Given the description of an element on the screen output the (x, y) to click on. 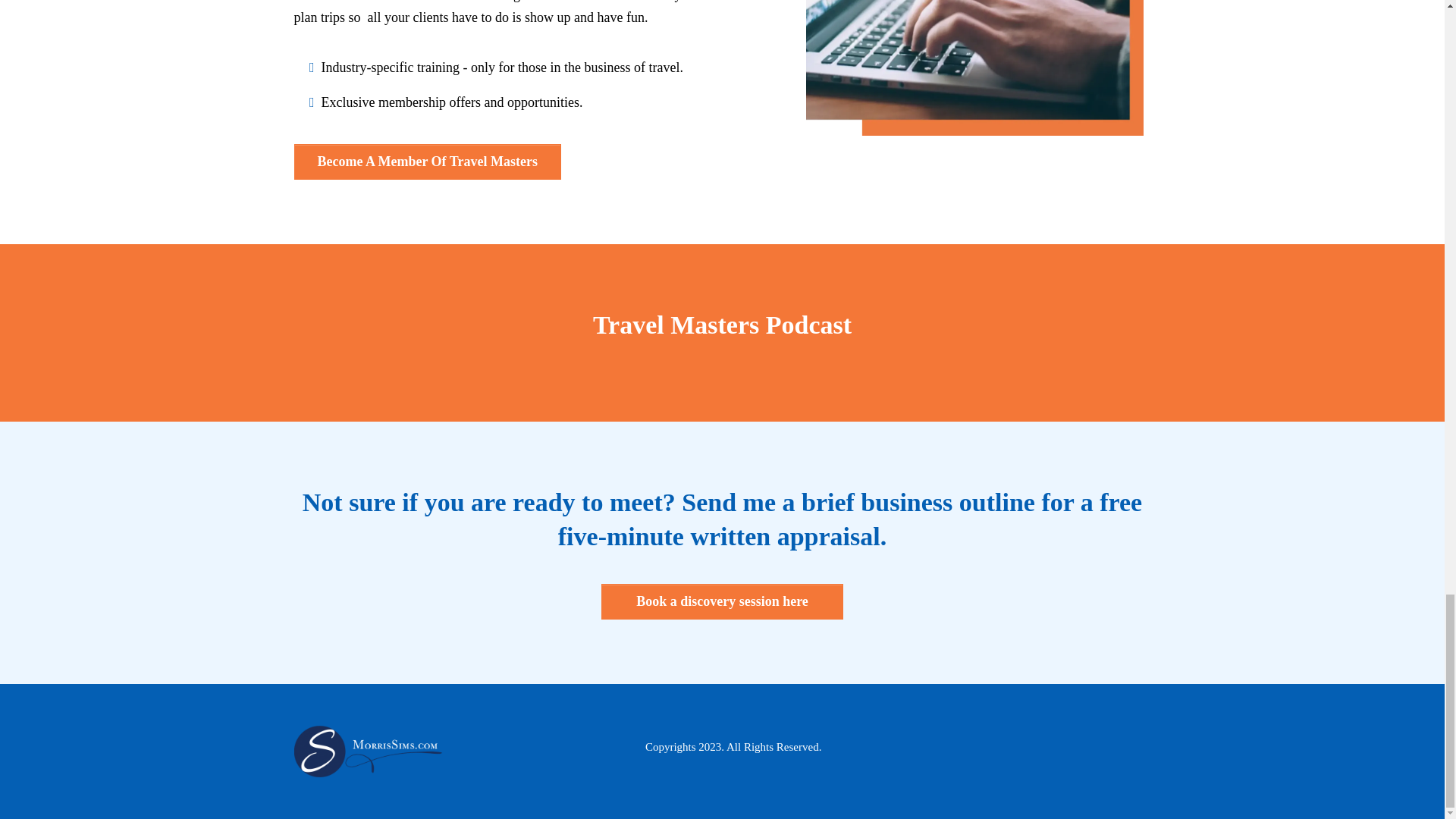
Become A Member Of Travel Masters (427, 161)
Book a discovery session here (722, 601)
